Given the description of an element on the screen output the (x, y) to click on. 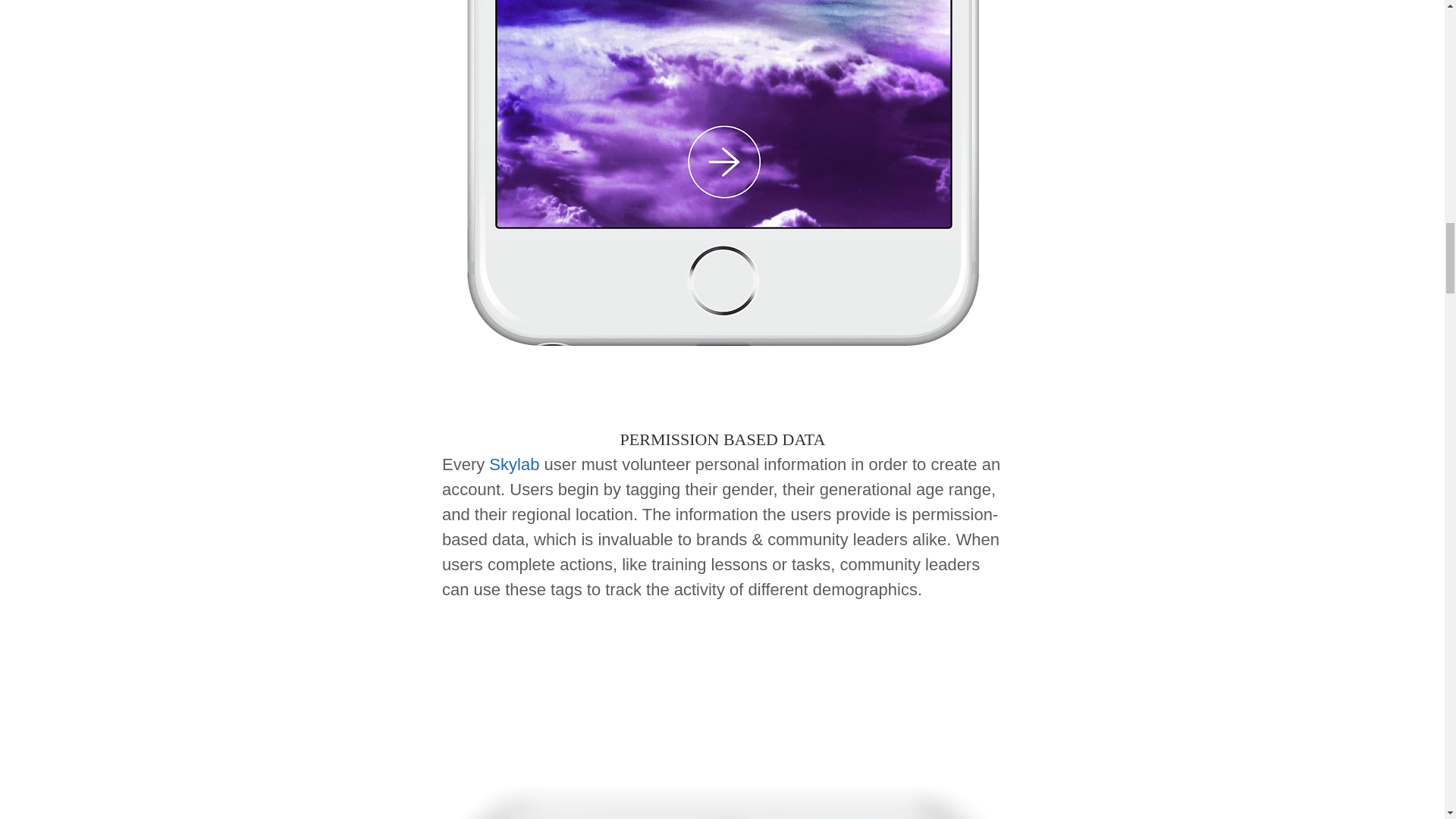
Skylab (513, 464)
